Given the description of an element on the screen output the (x, y) to click on. 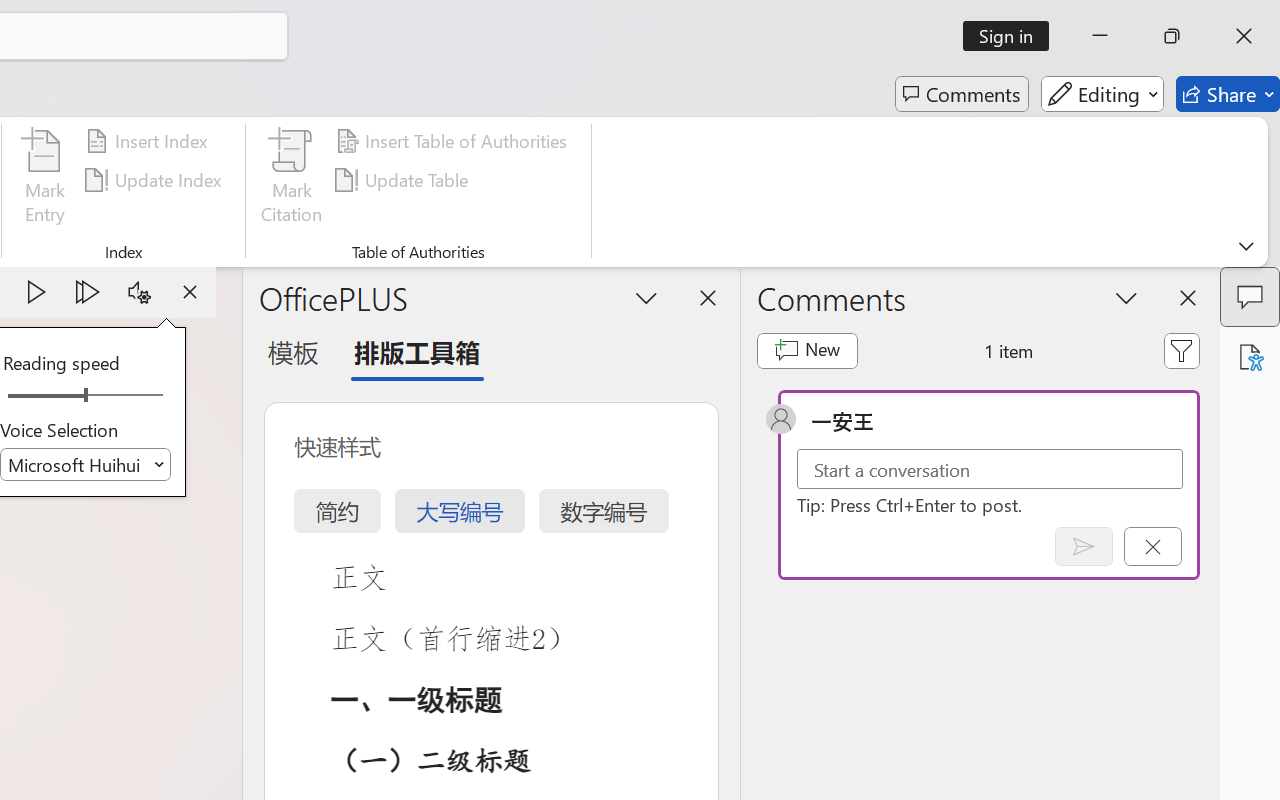
Insert Index... (149, 141)
Start a conversation (990, 468)
New comment (806, 350)
Mark Entry... (44, 179)
Insert Table of Authorities... (453, 141)
Page right (129, 395)
Play (36, 292)
Page left (40, 395)
Sign in (1012, 35)
